Given the description of an element on the screen output the (x, y) to click on. 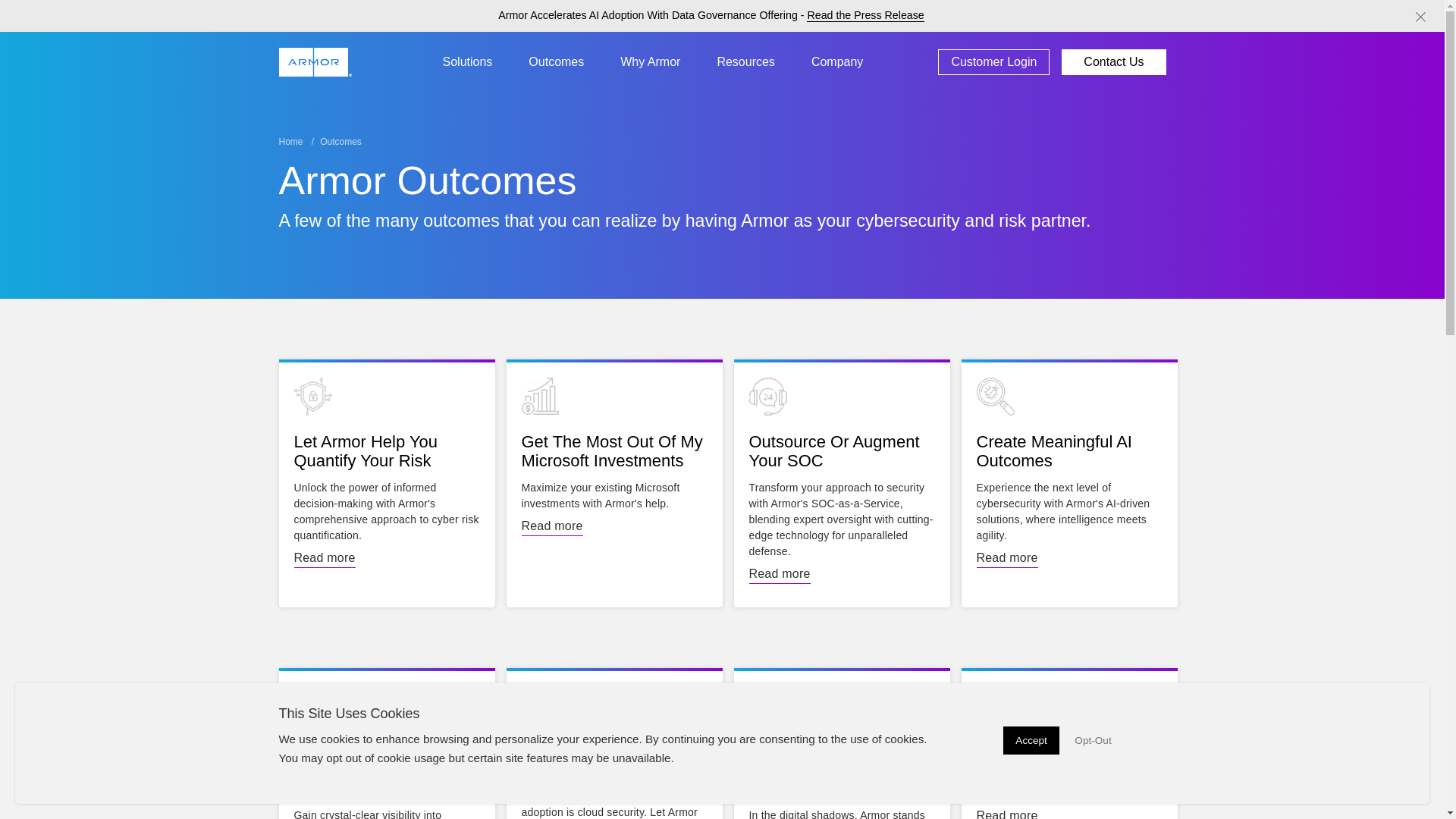
Solutions (467, 62)
Read the Press Release (864, 15)
Outcomes (555, 62)
Resources (745, 62)
Why Armor (650, 62)
Armor (317, 61)
